Given the description of an element on the screen output the (x, y) to click on. 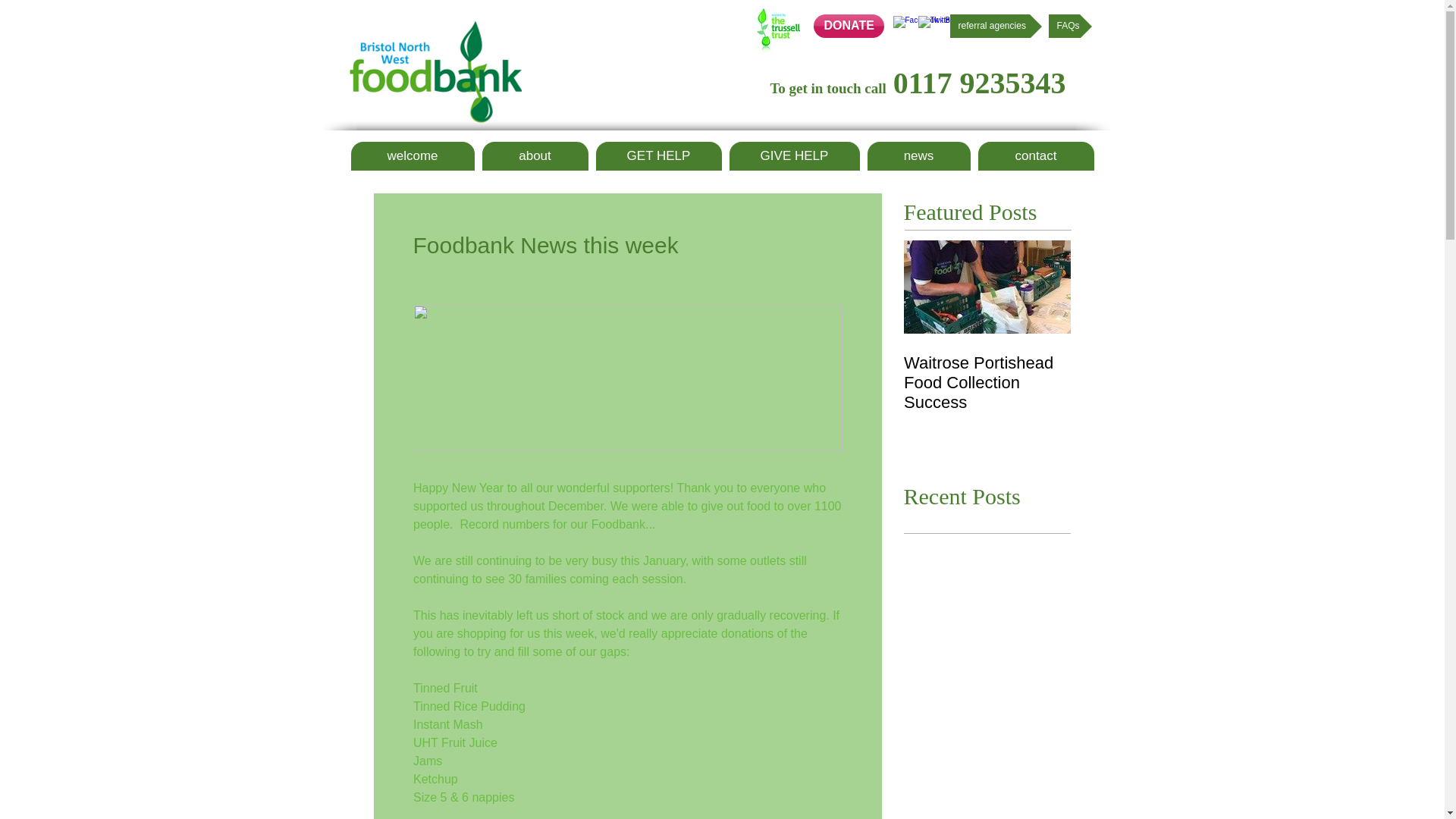
news (919, 155)
referral agencies (995, 25)
GET HELP (658, 155)
DONATE (847, 25)
new logo.png (434, 70)
contact (1036, 155)
GIVE HELP (794, 155)
about (534, 155)
welcome (412, 155)
FAQs (1069, 25)
